Given the description of an element on the screen output the (x, y) to click on. 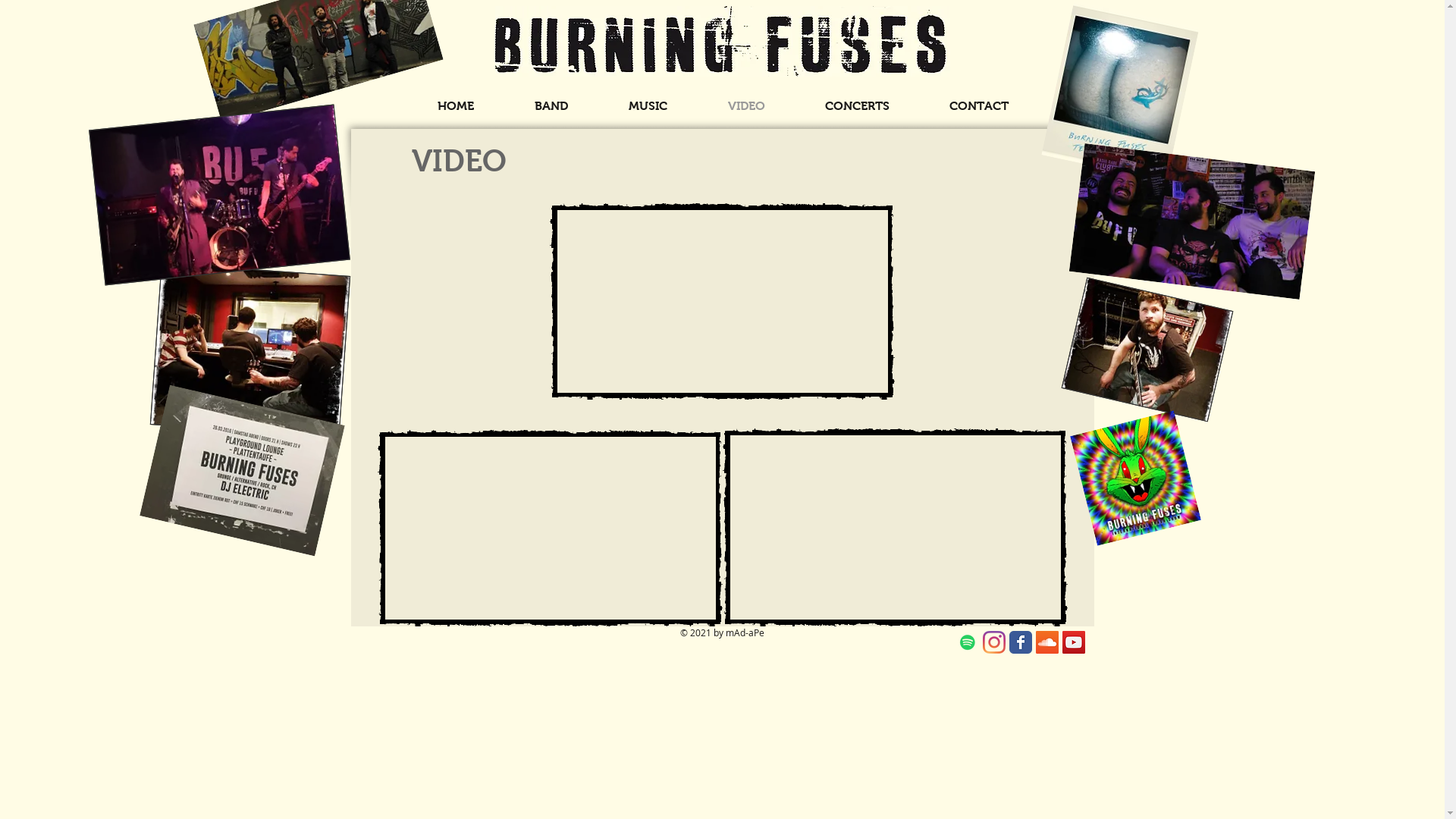
HOME Element type: text (454, 105)
VIDEO Element type: text (746, 105)
External YouTube Element type: hover (722, 301)
CONTACT Element type: text (978, 105)
MUSIC Element type: text (646, 105)
BAND Element type: text (550, 105)
External YouTube Element type: hover (549, 527)
External YouTube Element type: hover (894, 527)
CONCERTS Element type: text (856, 105)
